Given the description of an element on the screen output the (x, y) to click on. 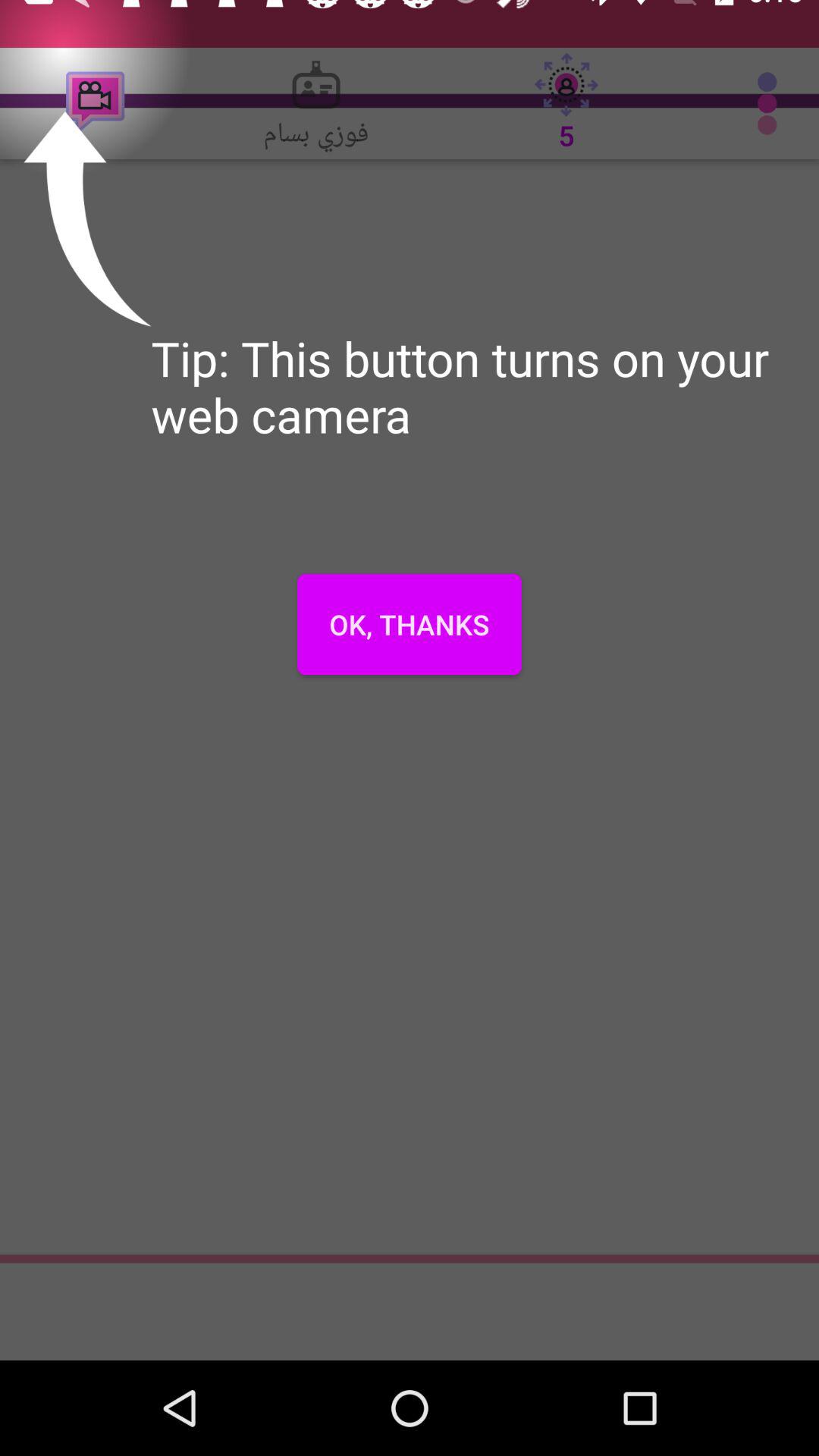
turn on item below the tip this button (409, 624)
